Given the description of an element on the screen output the (x, y) to click on. 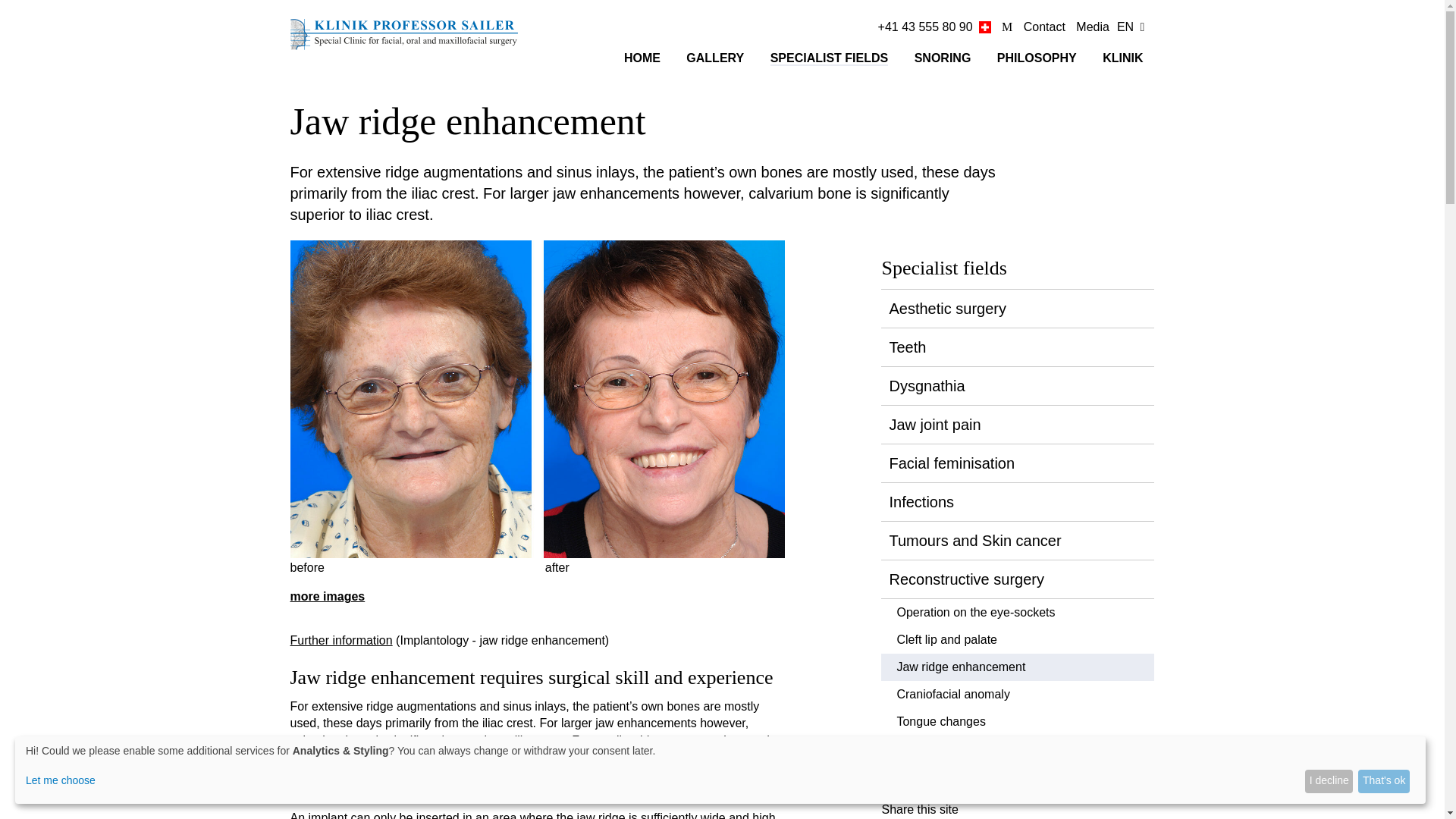
EN (1125, 26)
GALLERY (714, 57)
Media (1092, 27)
Contact (1044, 27)
SPECIALIST FIELDS (829, 58)
Opens internal link in current window (340, 640)
HOME (642, 57)
